Given the description of an element on the screen output the (x, y) to click on. 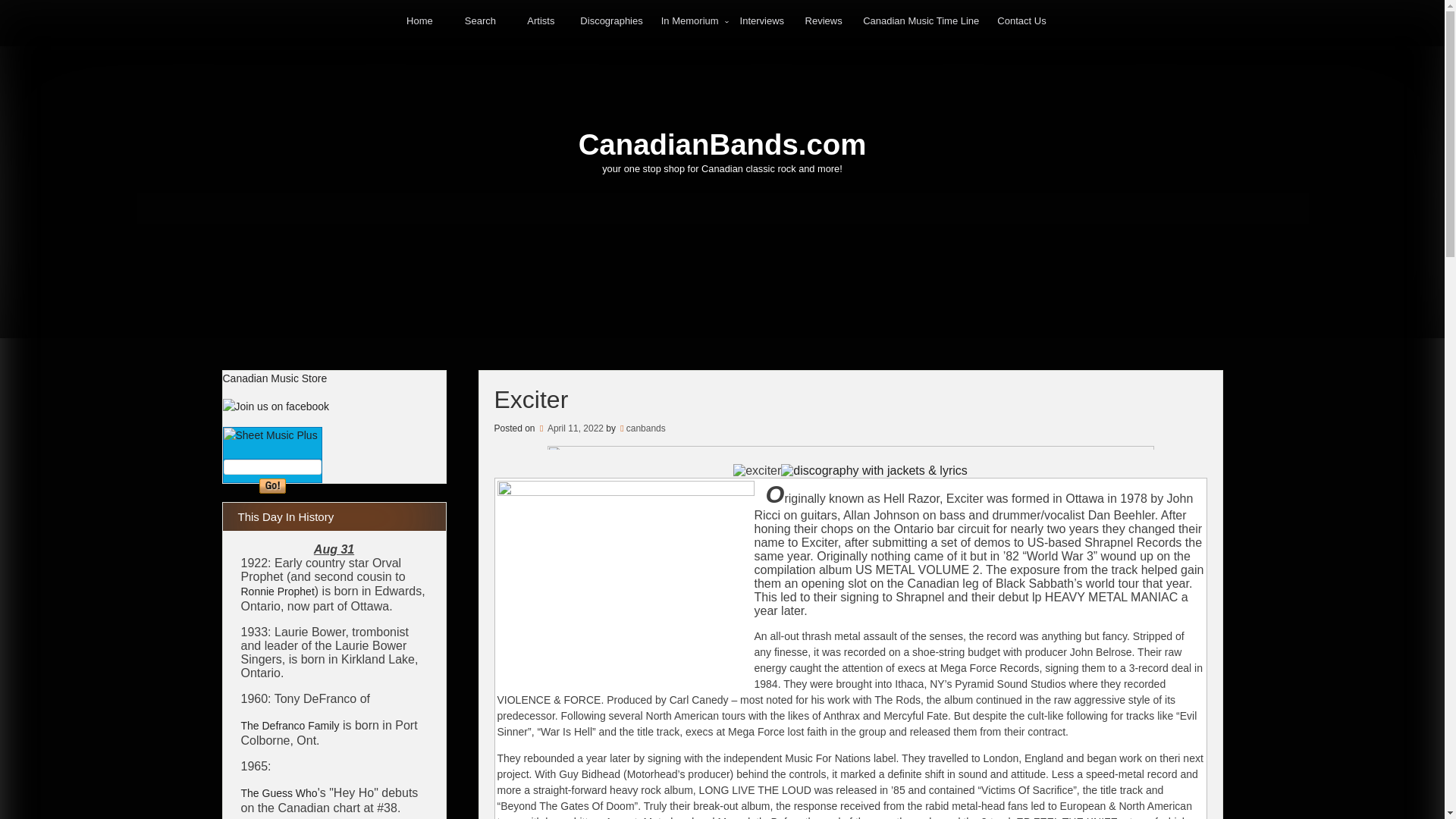
canbands (645, 428)
The Defranco Family (290, 725)
Discographies (610, 20)
Reviews (823, 20)
In Memorium (691, 20)
Contact Us (1021, 20)
Search (480, 20)
April 11, 2022 (570, 428)
Canadian Music Time Line (920, 20)
Artists (540, 20)
